Given the description of an element on the screen output the (x, y) to click on. 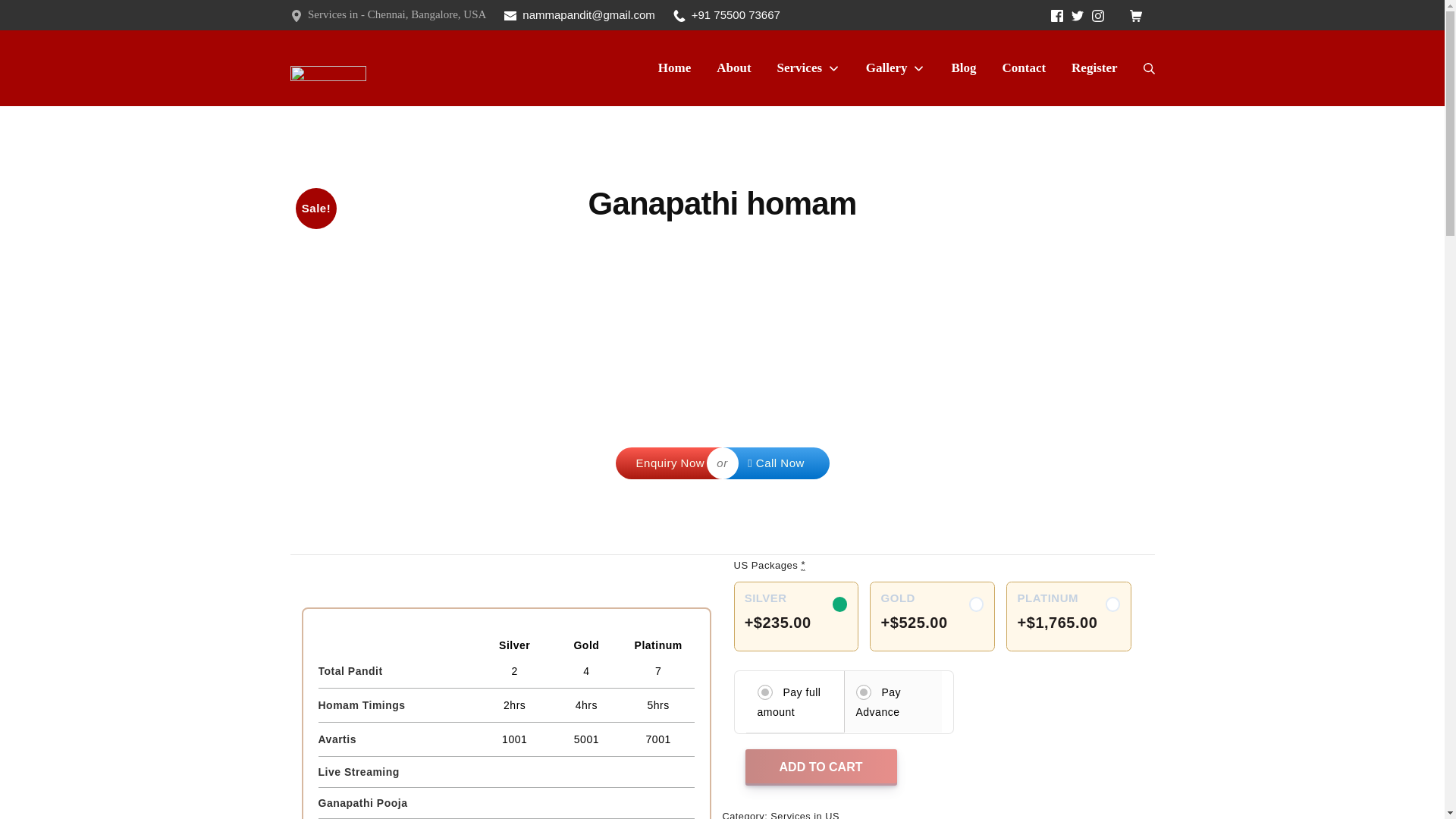
Facebook icon (1056, 15)
Twitter icon (1139, 14)
Instagram (1077, 15)
Facebook (1097, 15)
Twitter (1056, 15)
3nkso (1077, 15)
35bx6 (839, 604)
6gmp2 (976, 604)
nammapandit (1113, 604)
Instagram icon (327, 67)
Services (1097, 15)
